Given the description of an element on the screen output the (x, y) to click on. 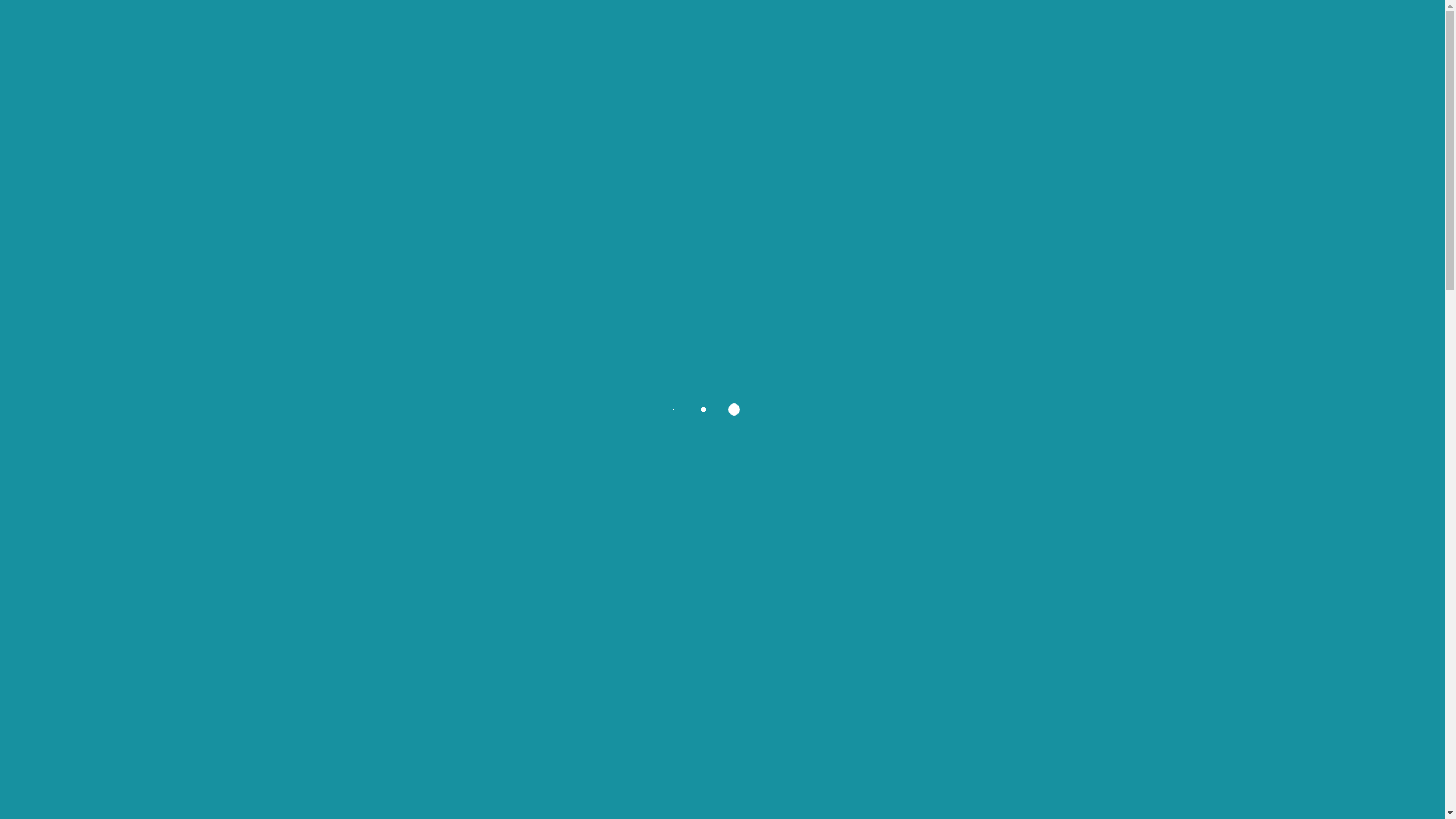
HAPPY PETS Element type: text (990, 369)
LOCATION Element type: text (833, 34)
MEDICAL Element type: text (981, 402)
Preparing To Leave Your Dog At Home [again] Element type: hover (999, 561)
SERVICES WE OFFER Element type: text (633, 34)
PREPARING TO LEAVE YOUR DOG AT HOME [AGAIN] Element type: text (1109, 563)
Laser Therapy Element type: hover (999, 649)
HOME Element type: text (538, 34)
ABOUT US Element type: text (745, 34)
BLOG Element type: text (1045, 34)
PRODUCTS Element type: text (915, 34)
Cytopoint a New Allergy Treatment Element type: hover (999, 718)
PROBLEM BARKING Element type: text (382, 792)
Milton Village Vet - Your friendly local vet Element type: hover (346, 32)
CYTOPOINT A NEW ALLERGY TREATMENT Element type: text (1109, 711)
Problem Barking Element type: hover (607, 538)
FAQS Element type: text (987, 34)
LASER THERAPY Element type: text (1109, 633)
PET CARE Element type: text (983, 434)
